Given the description of an element on the screen output the (x, y) to click on. 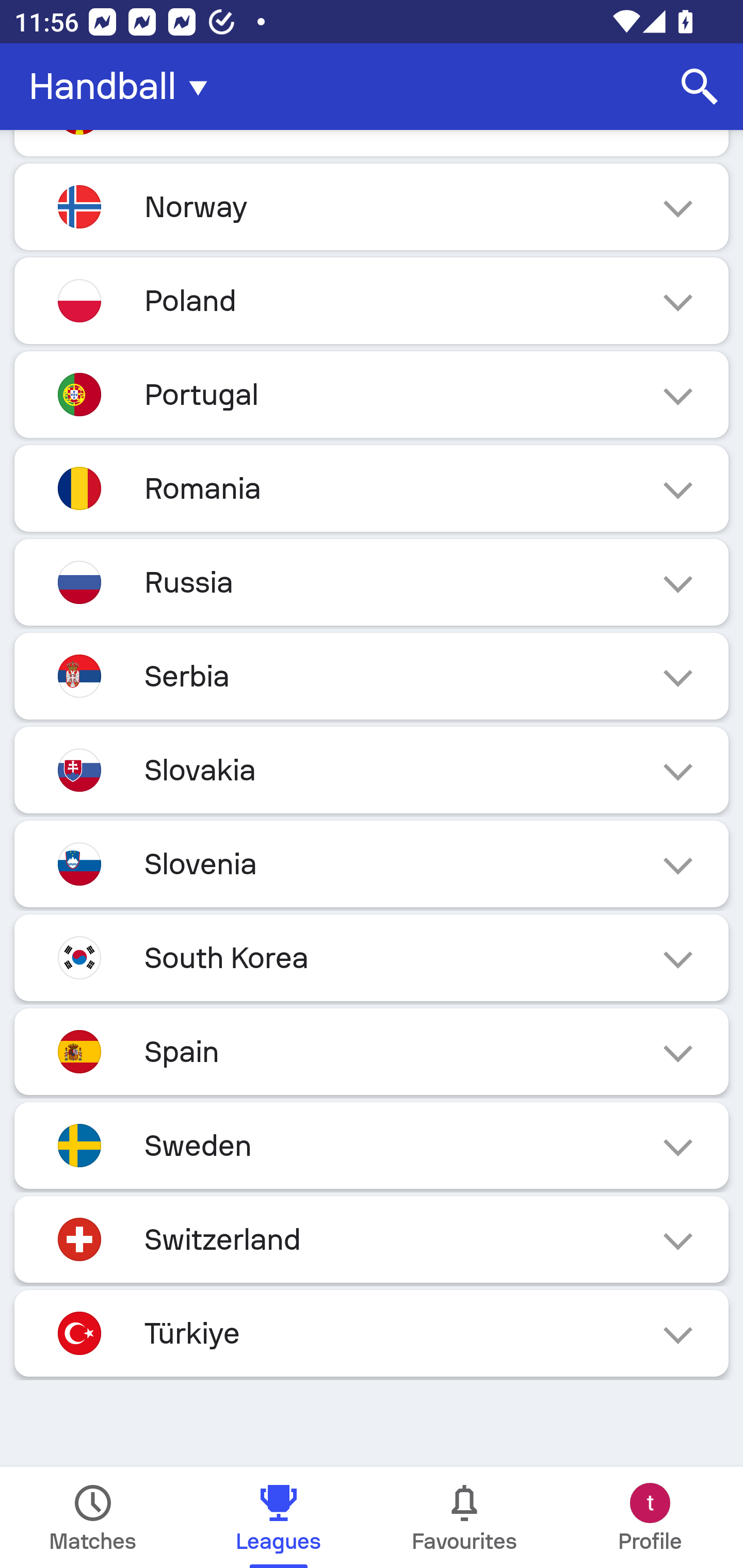
Handball (124, 86)
Search (699, 86)
Norway (371, 206)
Poland (371, 300)
Portugal (371, 394)
Romania (371, 488)
Russia (371, 582)
Serbia (371, 676)
Slovakia (371, 769)
Slovenia (371, 863)
South Korea (371, 957)
Spain (371, 1051)
Sweden (371, 1145)
Switzerland (371, 1239)
Türkiye (371, 1333)
Matches (92, 1517)
Favourites (464, 1517)
Profile (650, 1517)
